Given the description of an element on the screen output the (x, y) to click on. 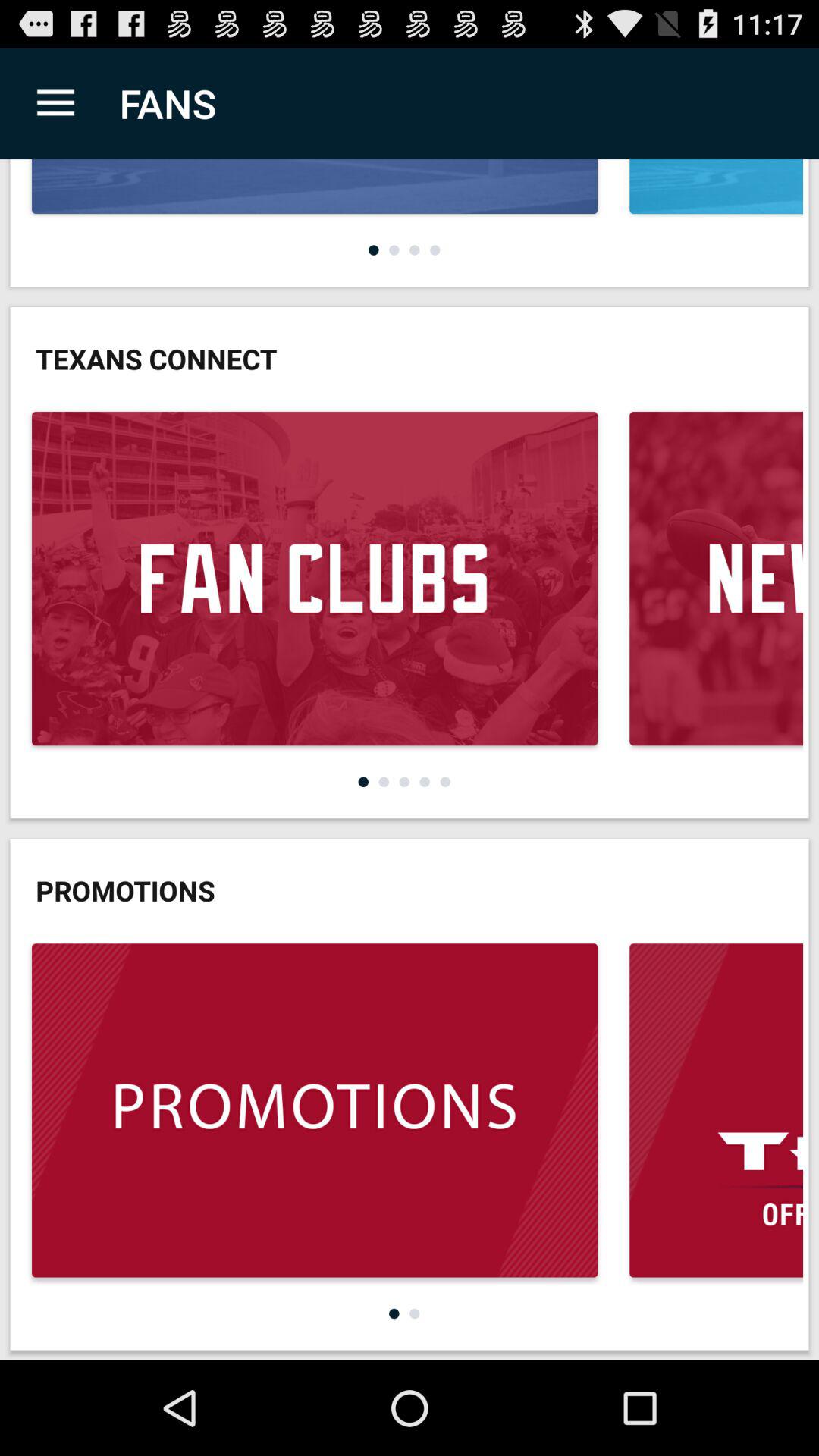
choose app to the left of the fans (55, 103)
